Given the description of an element on the screen output the (x, y) to click on. 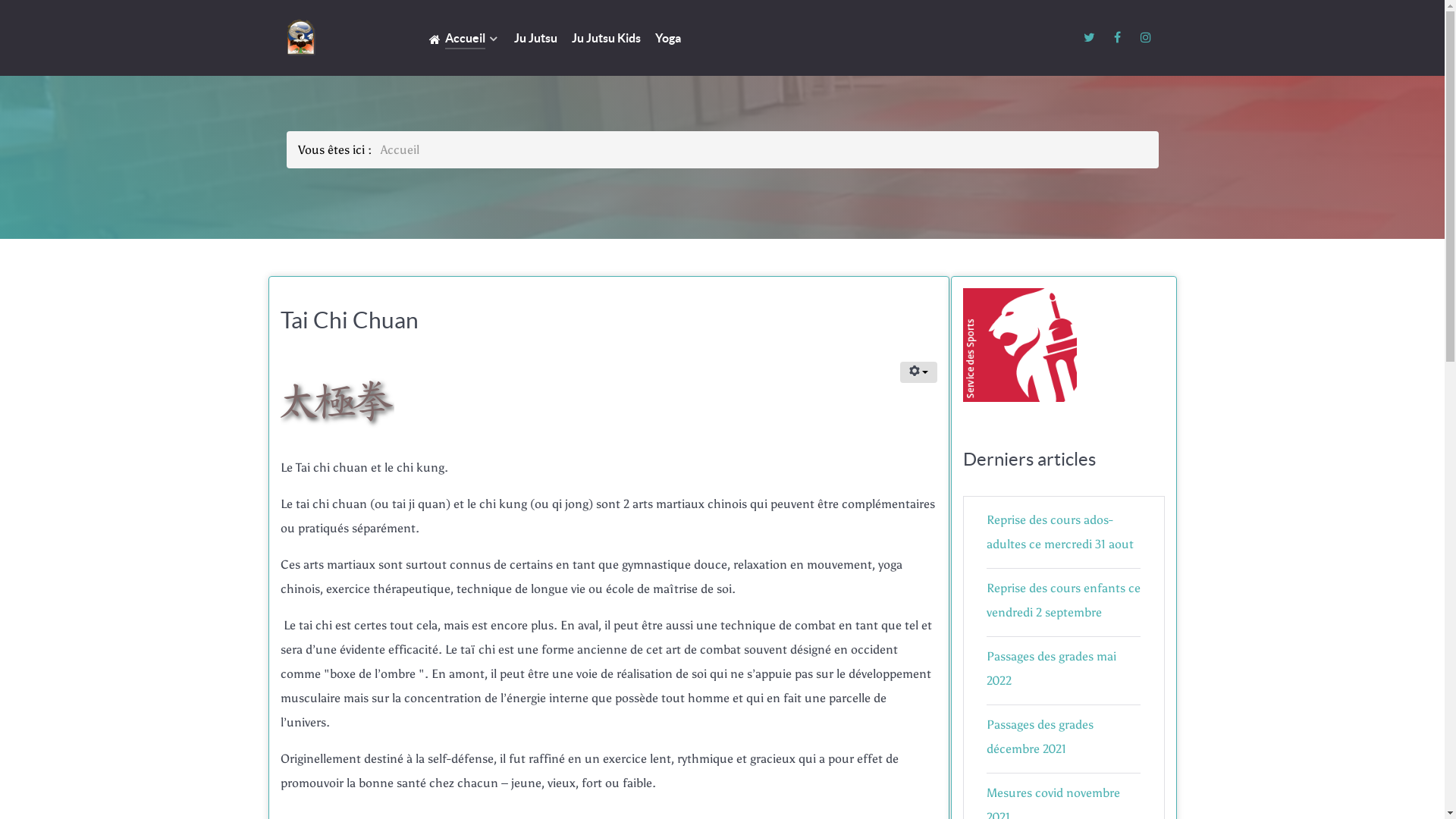
Reprise des cours ados-adultes ce mercredi 31 aout Element type: text (1059, 531)
Ju Jutsu Kids Element type: text (605, 39)
Ju Jutsu Element type: text (535, 39)
Accueil Element type: text (464, 39)
Budoryu Ecole de la voie martiale Element type: hover (335, 37)
Passages des grades mai 2022 Element type: text (1051, 668)
Reprise des cours enfants ce vendredi 2 septembre Element type: text (1063, 599)
FFJJ Element type: hover (1019, 338)
Yoga Element type: text (667, 39)
